Given the description of an element on the screen output the (x, y) to click on. 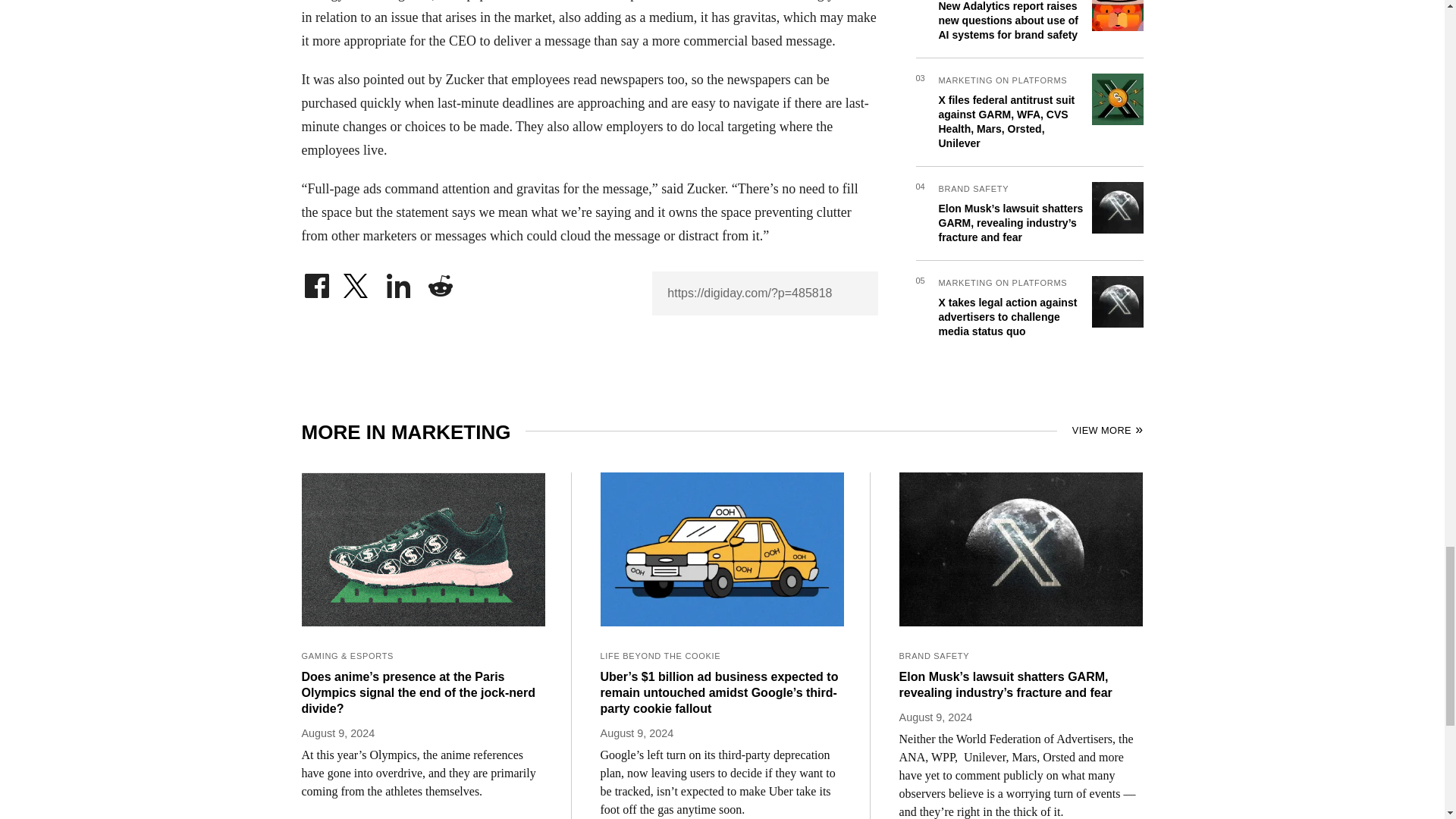
Share on Facebook (316, 281)
Share on LinkedIn (398, 281)
Share on Twitter (357, 281)
Share on Reddit (440, 281)
